Given the description of an element on the screen output the (x, y) to click on. 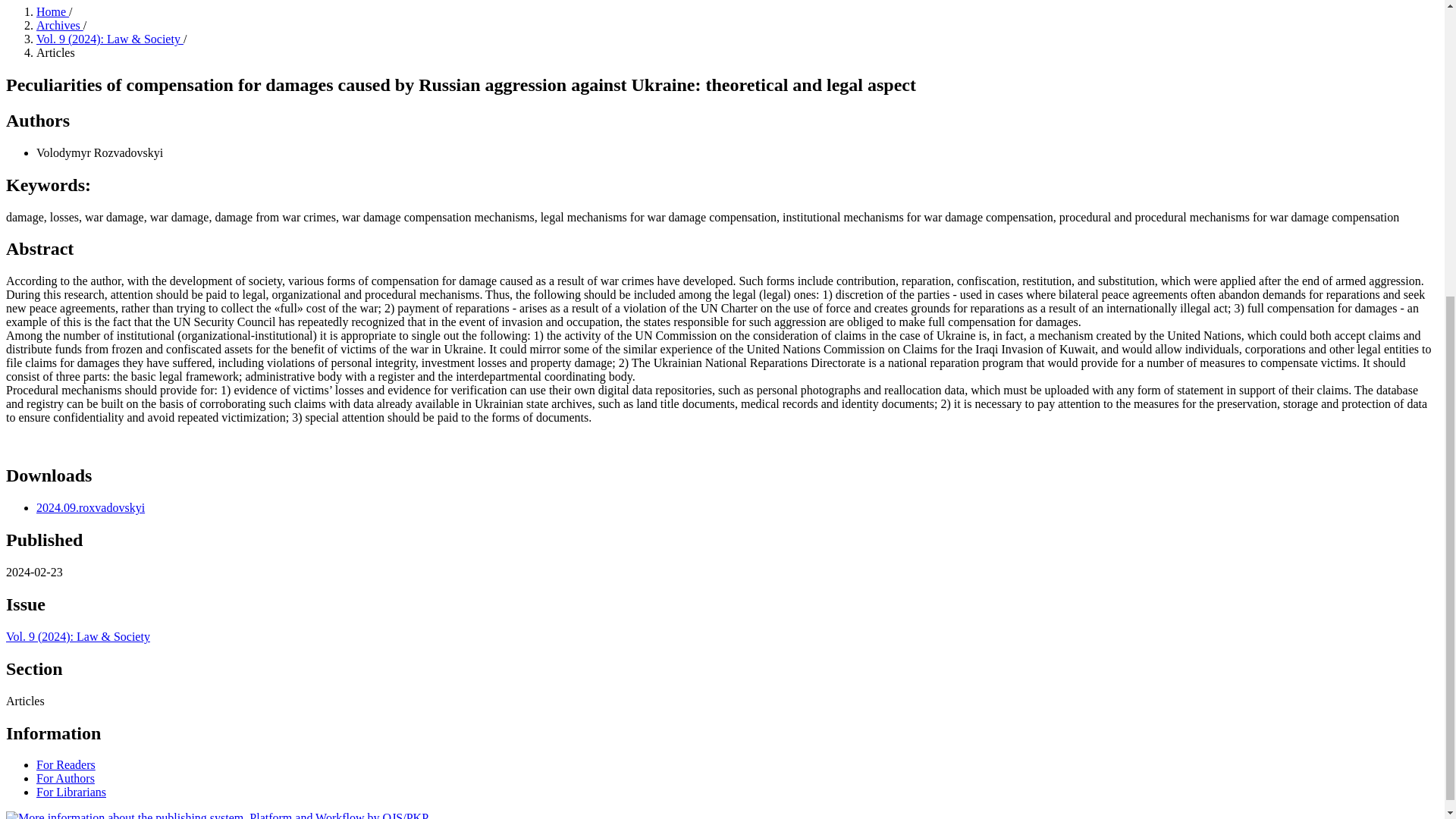
For Authors (65, 778)
Home (52, 11)
Archives (59, 24)
2024.09.roxvadovskyi (90, 507)
For Librarians (71, 791)
For Readers (66, 764)
